Given the description of an element on the screen output the (x, y) to click on. 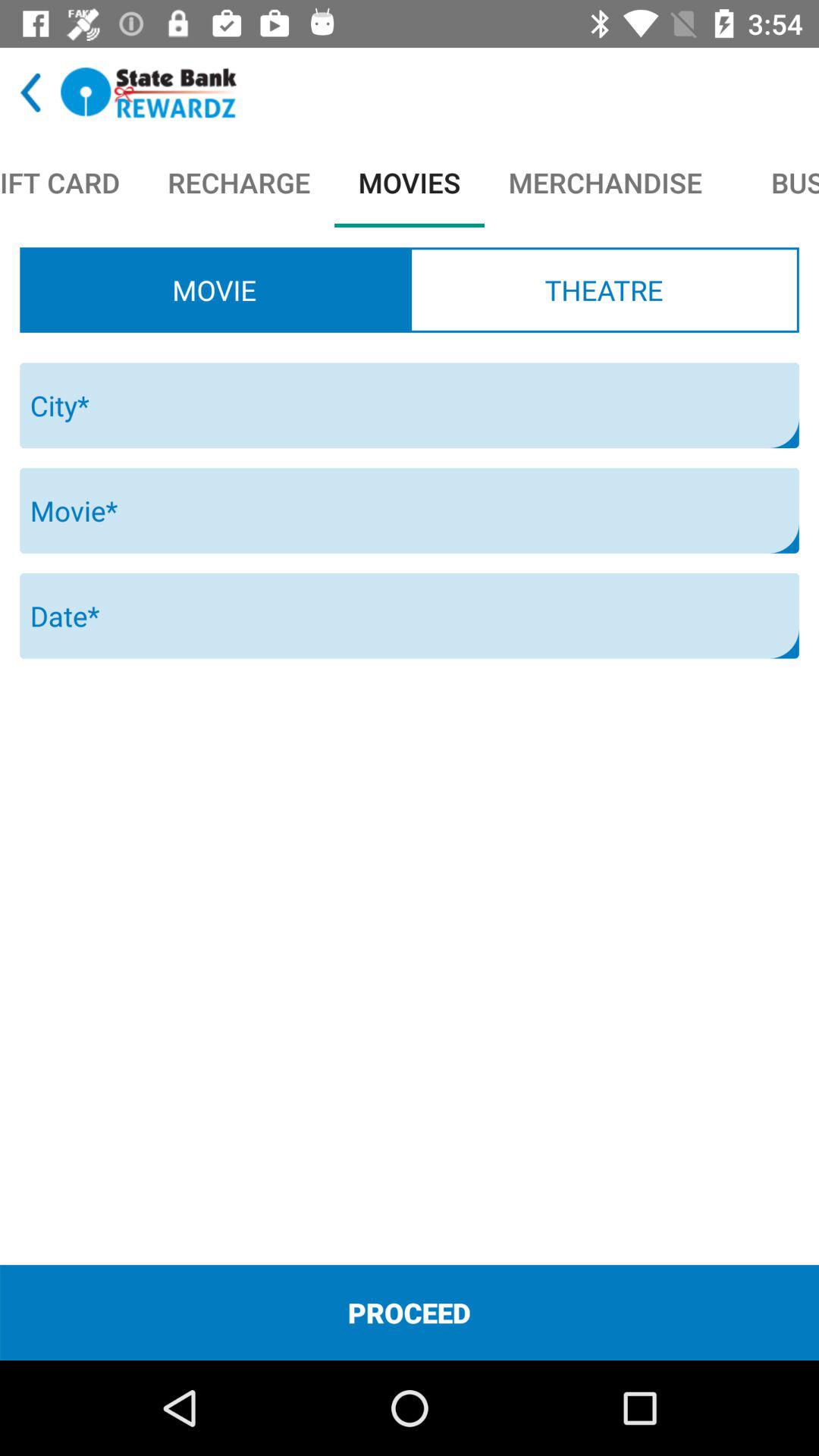
select city text field (409, 405)
